Given the description of an element on the screen output the (x, y) to click on. 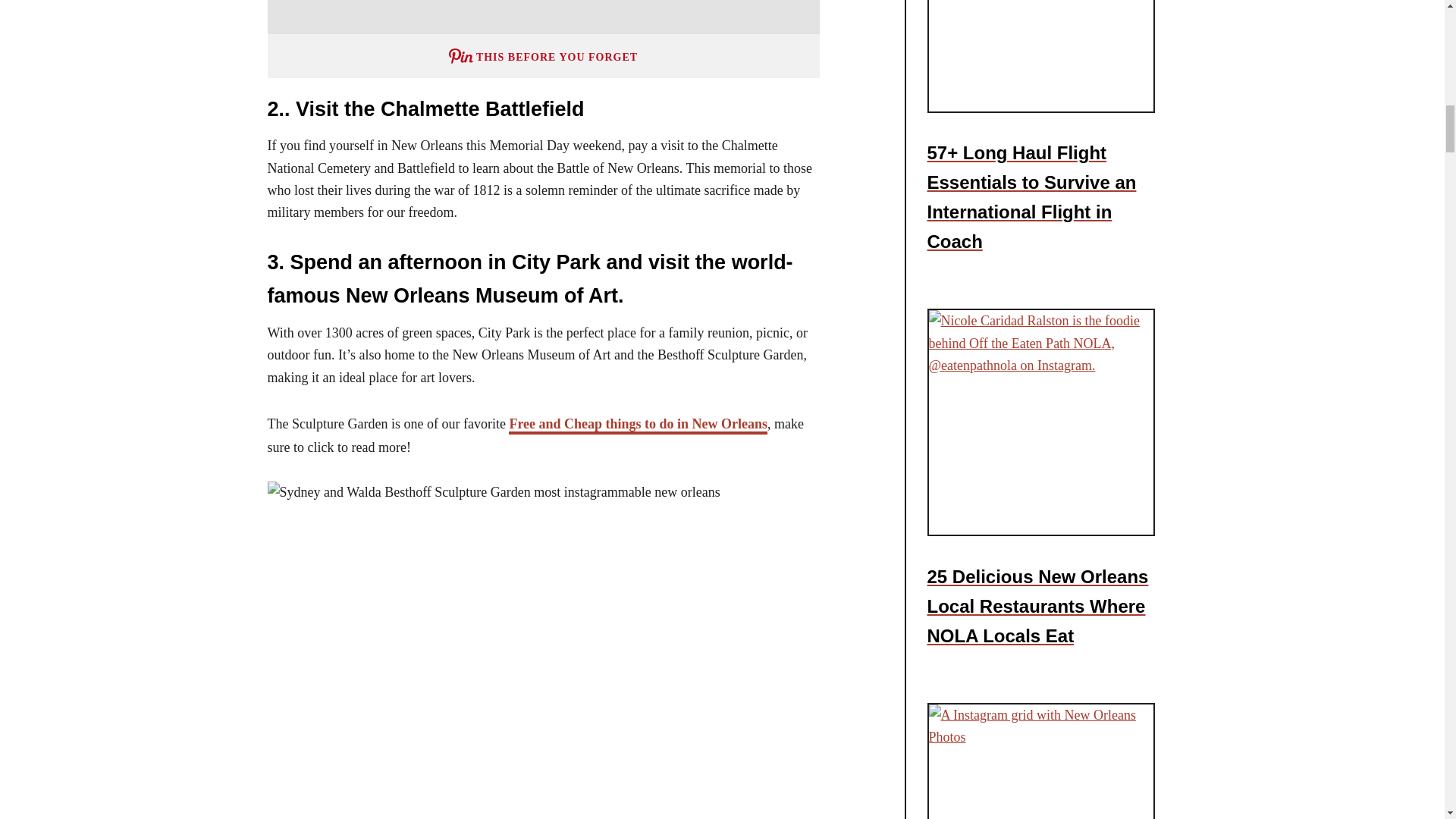
THIS BEFORE YOU FORGET (542, 55)
Free and Cheap things to do in New Orleans (637, 425)
